Given the description of an element on the screen output the (x, y) to click on. 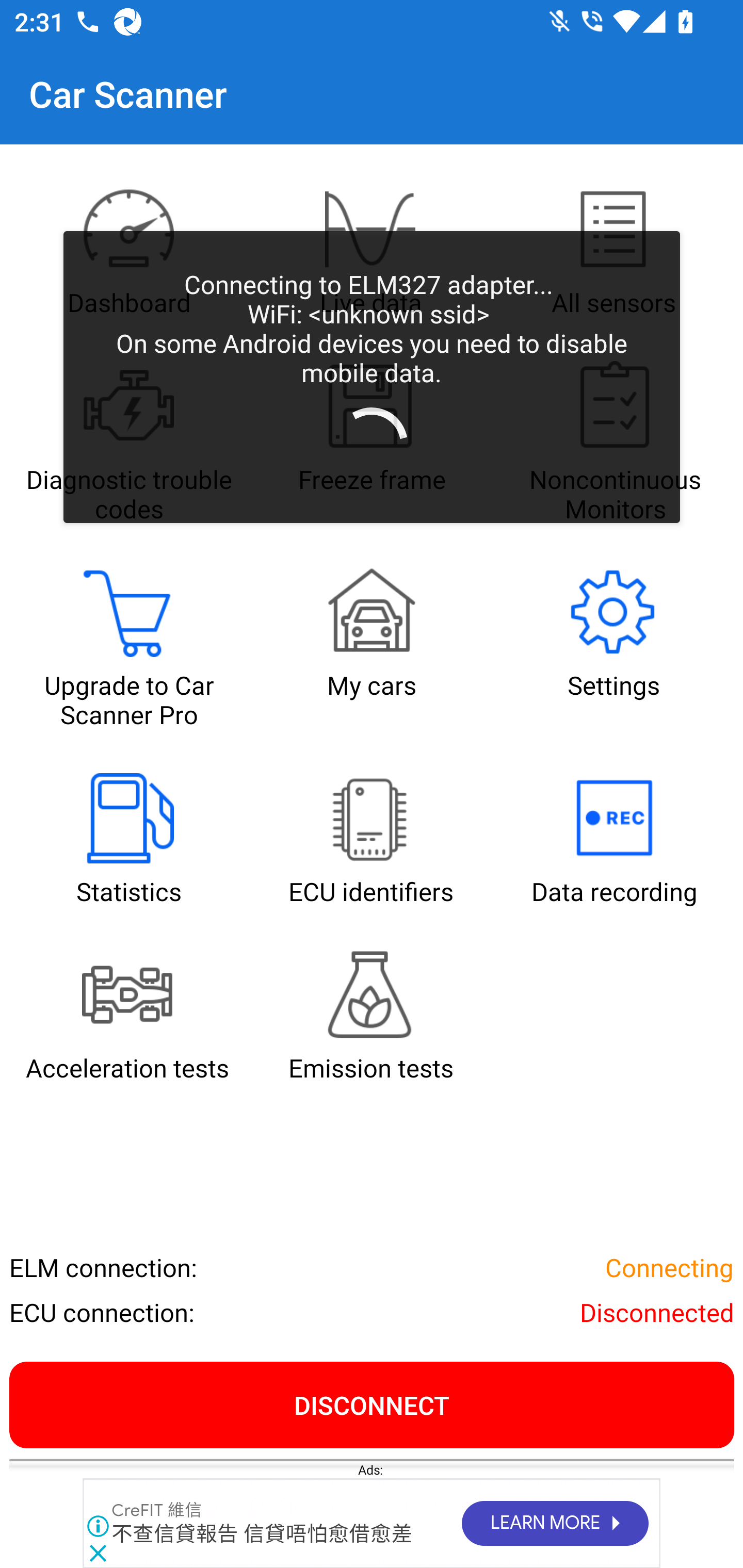
DISCONNECT (371, 1404)
CreFIT 維信 (157, 1511)
LEARN MORE (554, 1523)
不查信貸報告 信貸唔怕愈借愈差 (262, 1534)
